Given the description of an element on the screen output the (x, y) to click on. 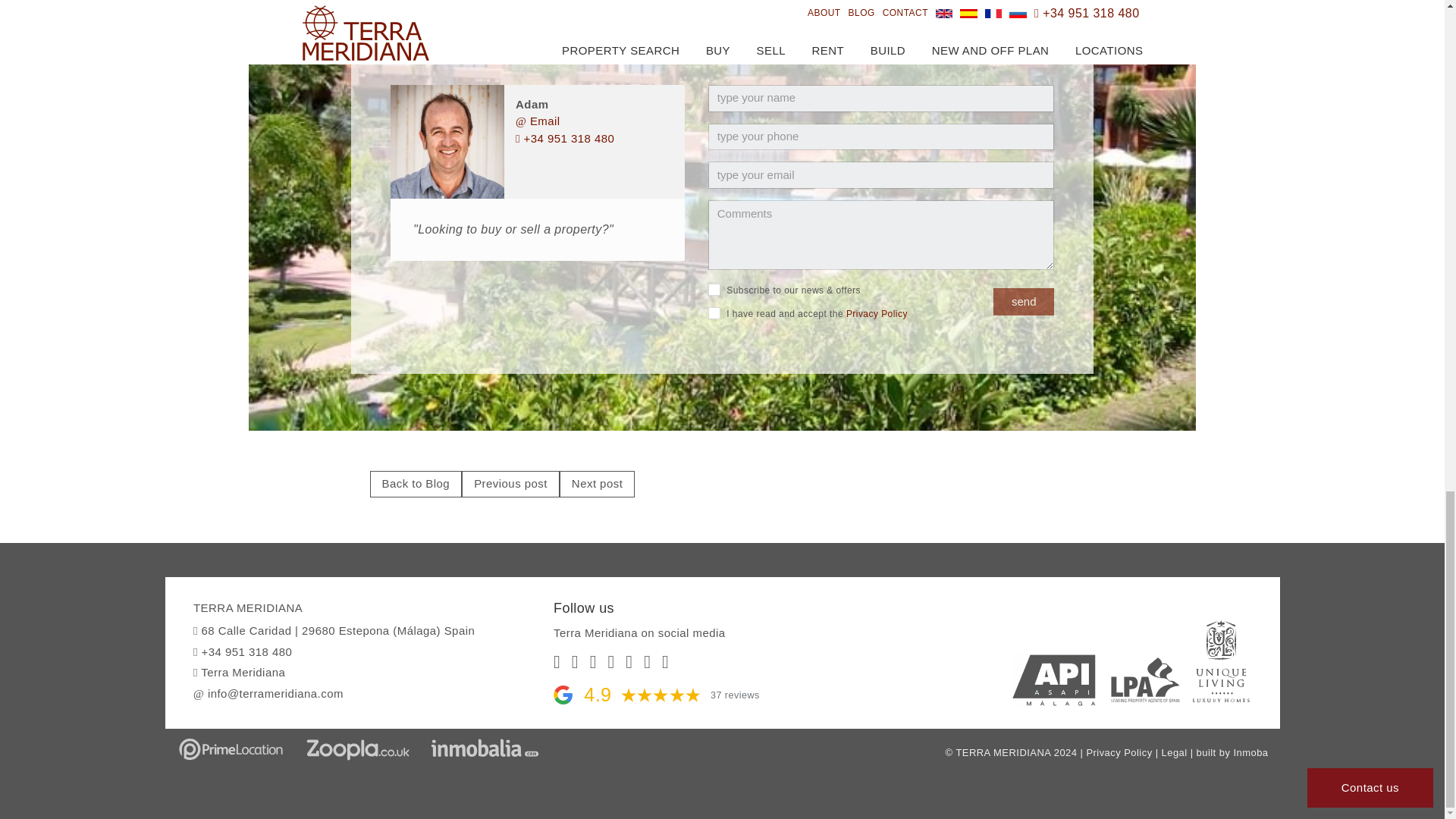
on (713, 313)
on (713, 289)
